Given the description of an element on the screen output the (x, y) to click on. 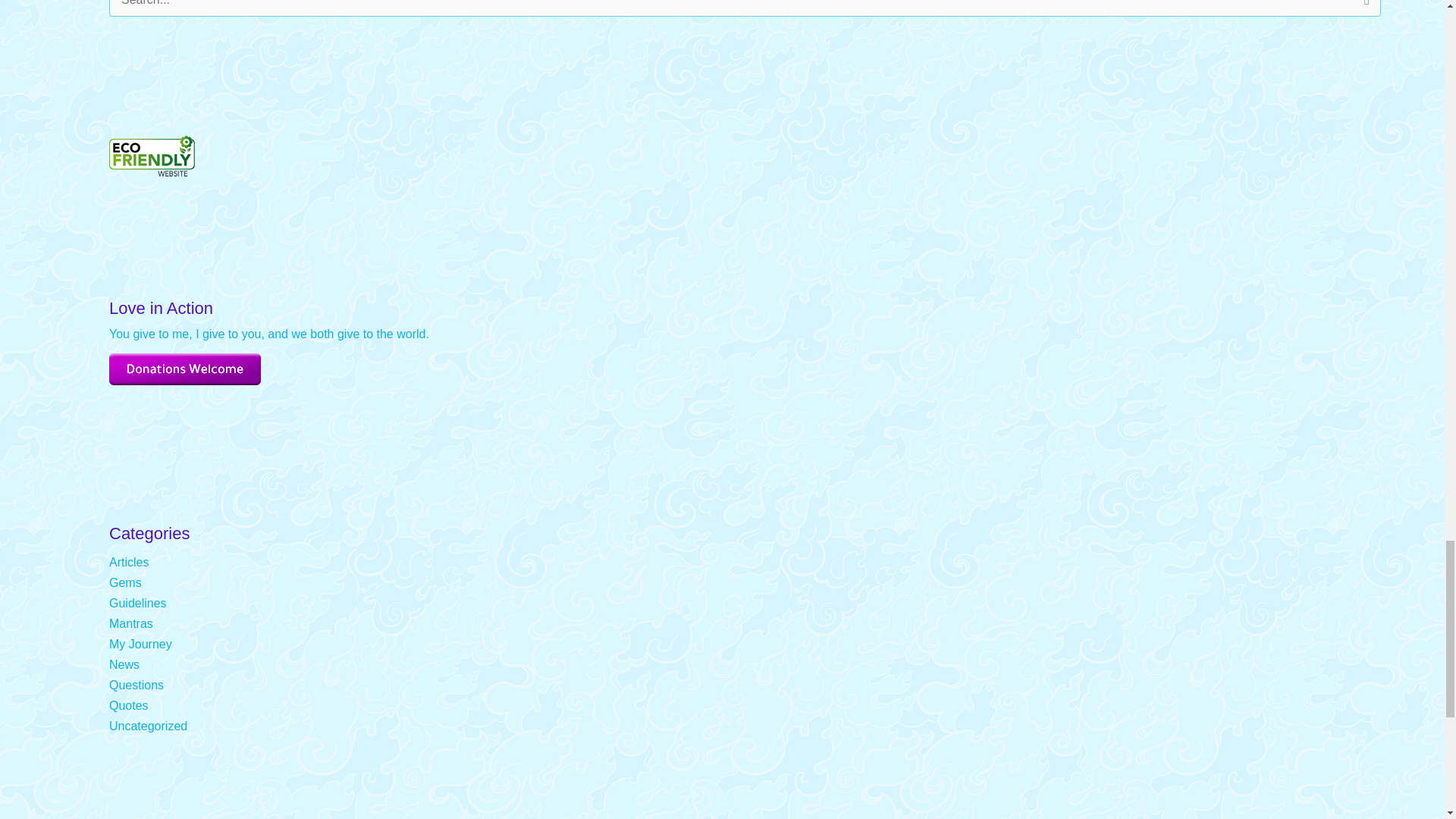
Gems (125, 582)
Search (1363, 12)
Search (1363, 12)
Uncategorized (148, 725)
News (124, 664)
Search (1363, 12)
Mantras (130, 623)
Questions (136, 684)
Articles (128, 562)
Guidelines (138, 603)
